Given the description of an element on the screen output the (x, y) to click on. 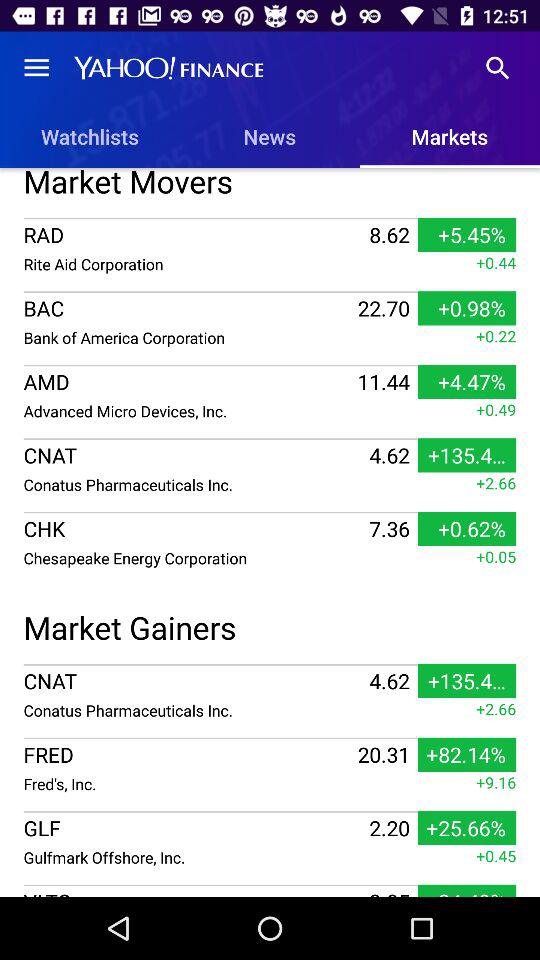
turn off item above the advanced micro devices (187, 381)
